Given the description of an element on the screen output the (x, y) to click on. 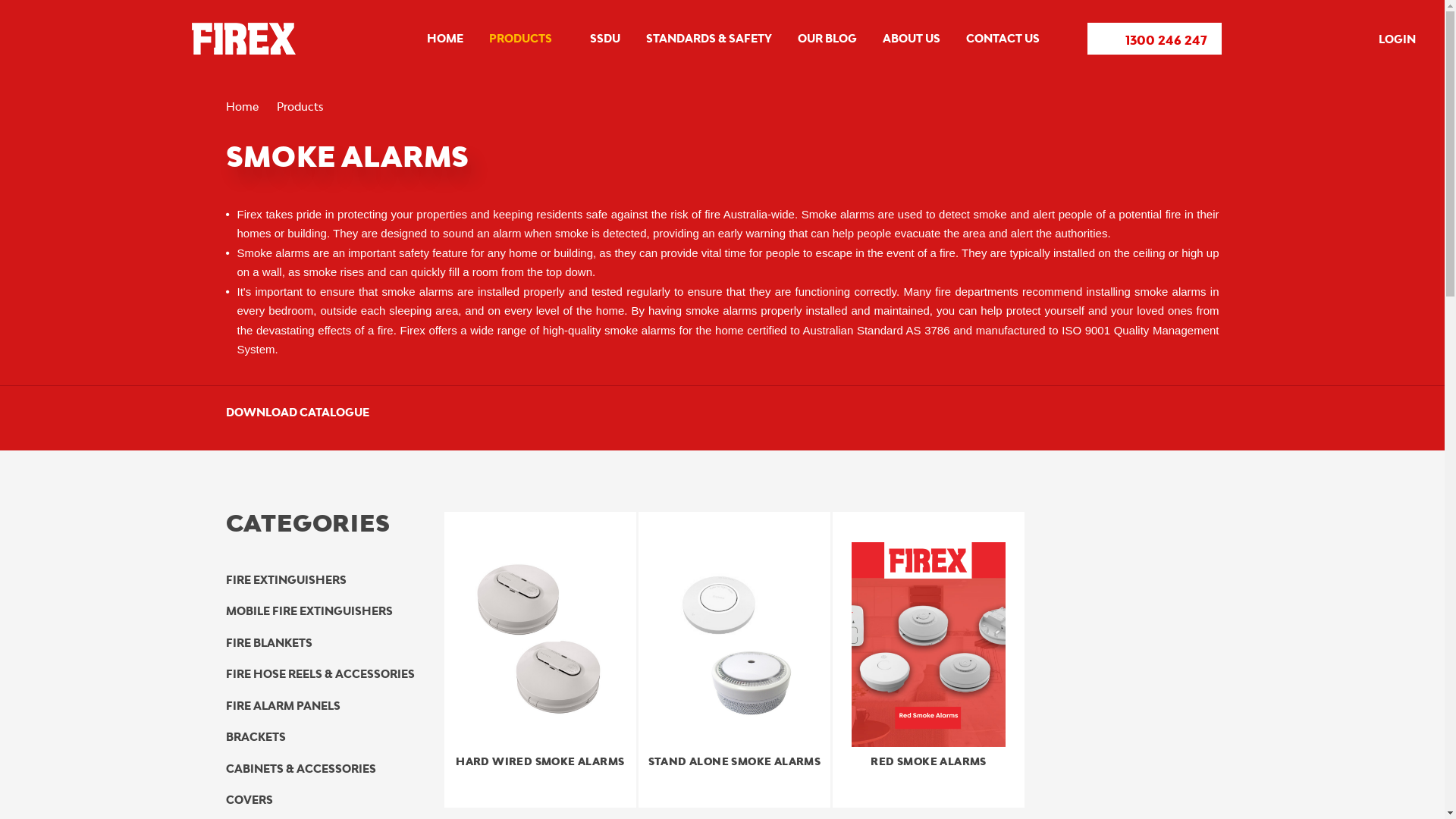
COVERS Element type: text (249, 799)
HOME Element type: text (444, 38)
DOWNLOAD CATALOGUE Element type: text (309, 411)
OUR BLOG Element type: text (826, 38)
STAND ALONE SMOKE ALARMS Element type: text (734, 659)
Red Smoke Alarms Element type: hover (928, 644)
FIRE EXTINGUISHERS Element type: text (285, 579)
STANDARDS & SAFETY Element type: text (708, 38)
FIRE HOSE REELS & ACCESSORIES Element type: text (319, 673)
CONTACT US Element type: text (1002, 38)
ABOUT US Element type: text (911, 38)
FIRE ALARM PANELS Element type: text (282, 705)
BRACKETS Element type: text (255, 736)
LOGIN Element type: text (1383, 40)
FIRE BLANKETS Element type: text (268, 642)
Stand Alone Smoke Alarms Element type: hover (734, 644)
Hard Wired Smoke Alarms Element type: hover (540, 644)
SSDU Element type: text (604, 38)
HARD WIRED SMOKE ALARMS Element type: text (540, 659)
Products Element type: text (299, 106)
1300 246 247 Element type: text (1154, 38)
Home Element type: text (241, 106)
RED SMOKE ALARMS Element type: text (928, 659)
CABINETS & ACCESSORIES Element type: text (300, 768)
MOBILE FIRE EXTINGUISHERS Element type: text (308, 611)
PRODUCTS Element type: text (525, 38)
